Given the description of an element on the screen output the (x, y) to click on. 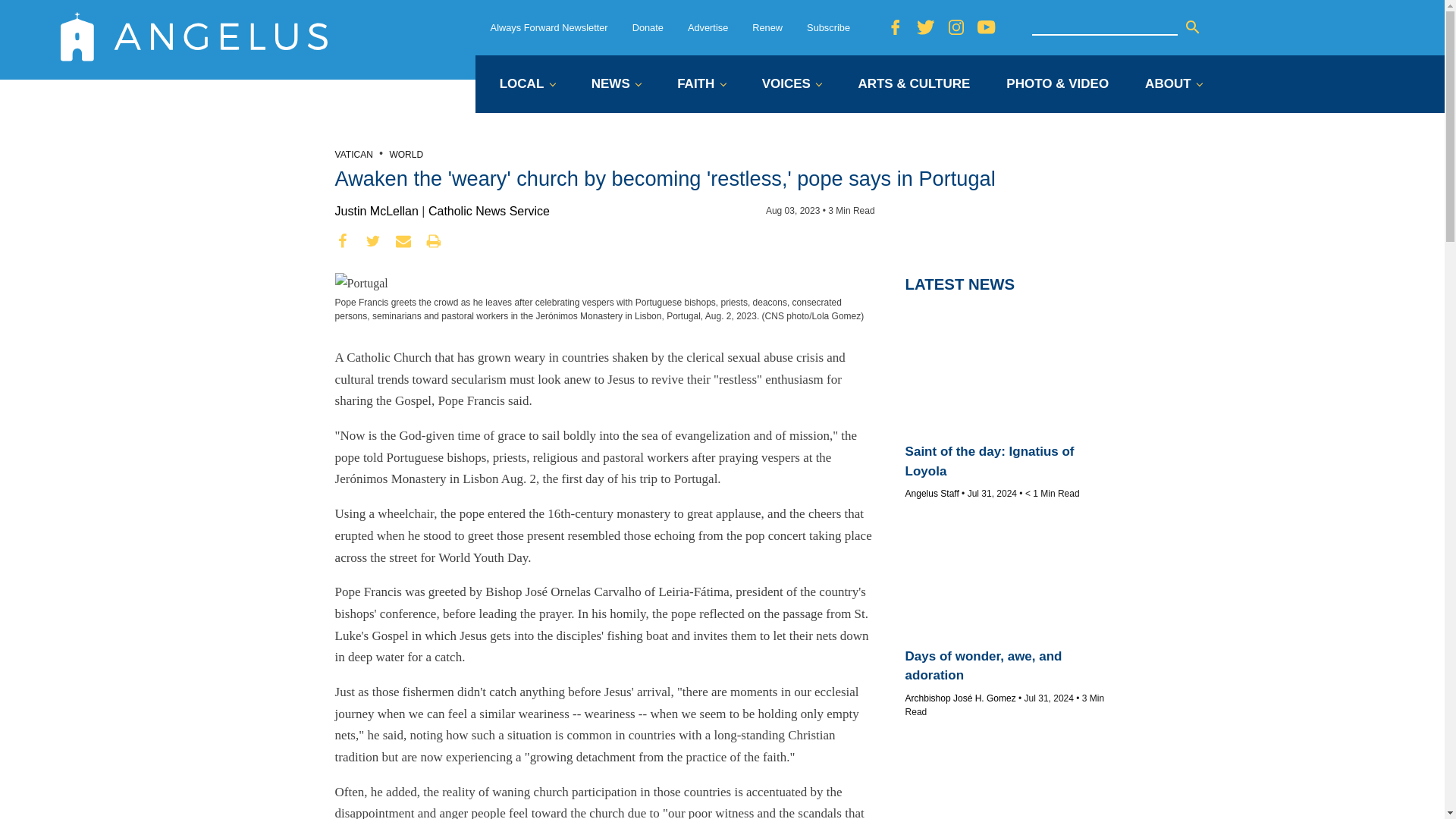
Posts by Justin McLellan (376, 210)
ABOUT (1173, 84)
envelope (403, 240)
LOCAL (526, 84)
facebook (342, 240)
print (433, 240)
FAITH (701, 84)
Advertise (707, 27)
Posts by Angelus Staff (932, 493)
Donate (647, 27)
Subscribe (828, 27)
Renew (767, 27)
NEWS (615, 84)
Always Forward Newsletter (549, 27)
Search (1192, 27)
